Given the description of an element on the screen output the (x, y) to click on. 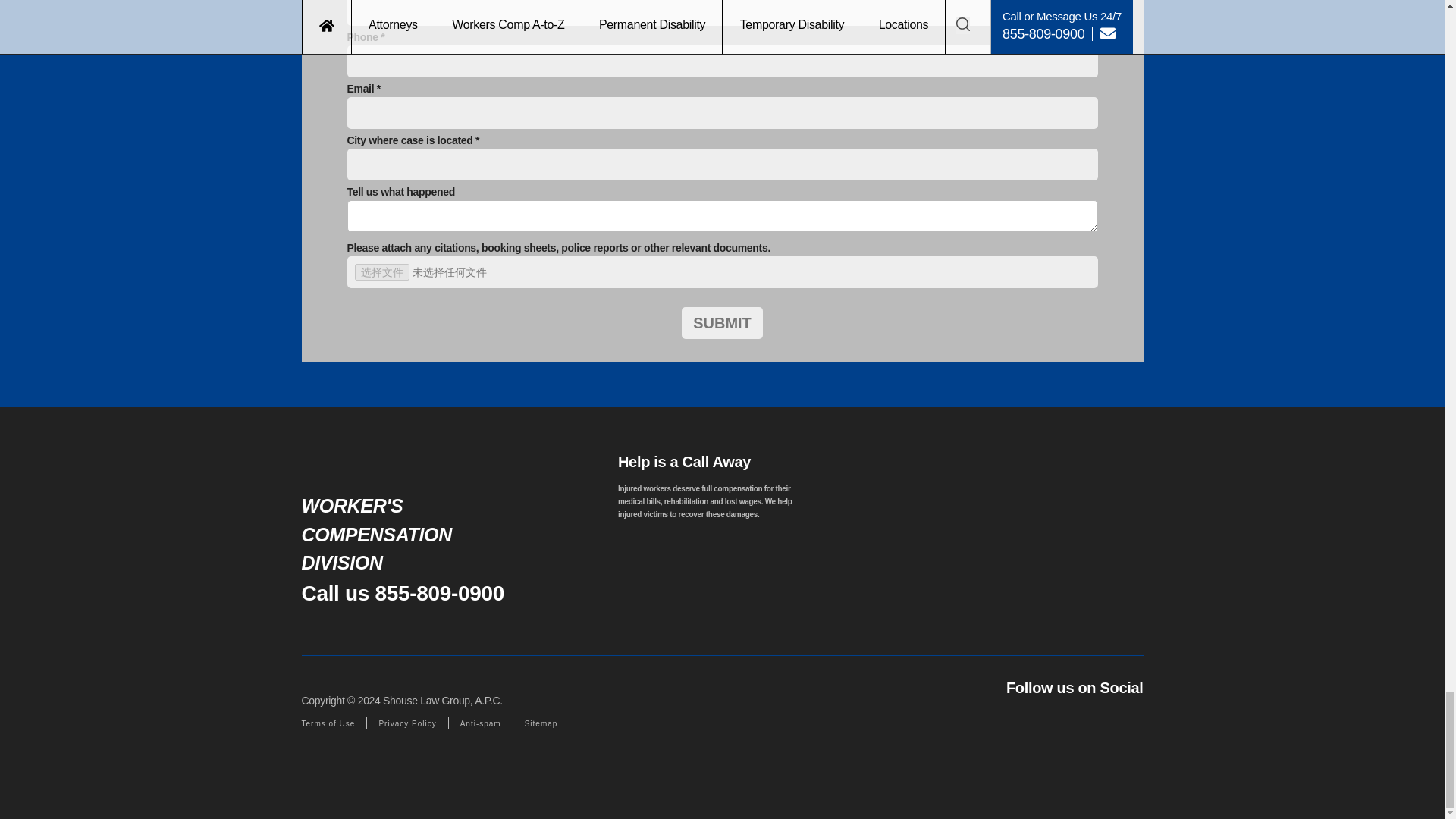
facebook (1019, 719)
Anti-spam (480, 723)
youtube (1128, 719)
Terms of Use (328, 723)
Sitemap (540, 723)
Privacy Policy (406, 723)
twitter (1072, 719)
Submit (721, 323)
Submit (721, 323)
855-809-0900 (440, 593)
